Given the description of an element on the screen output the (x, y) to click on. 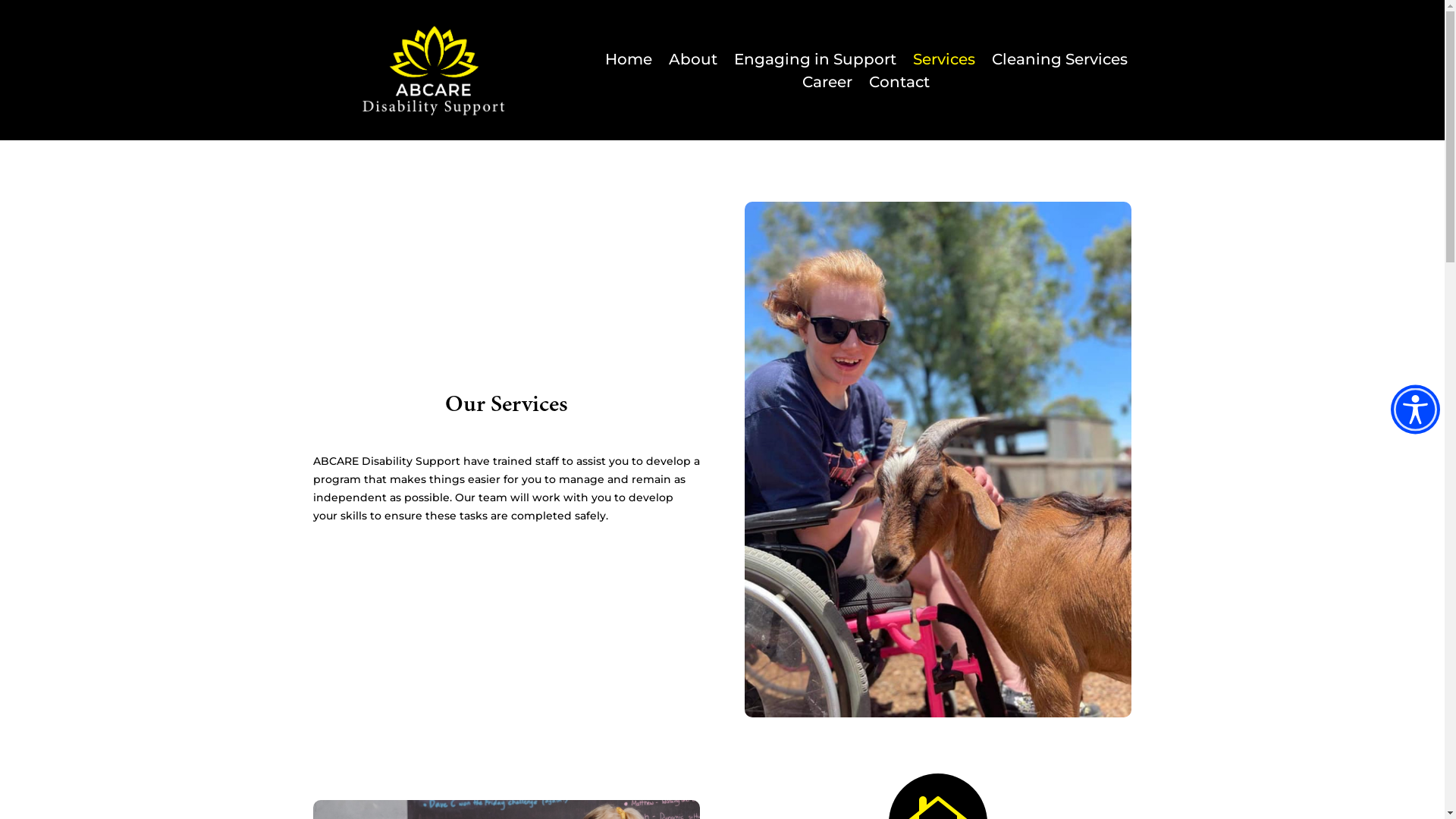
Services Element type: text (944, 61)
About Element type: text (692, 61)
Career Element type: text (827, 84)
ABCARE-Services-3 Element type: hover (937, 459)
Cleaning Services Element type: text (1059, 61)
Logo-ABCARE-WHITE Element type: hover (434, 70)
Engaging in Support Element type: text (815, 61)
Home Element type: text (628, 61)
Contact Element type: text (899, 84)
